Given the description of an element on the screen output the (x, y) to click on. 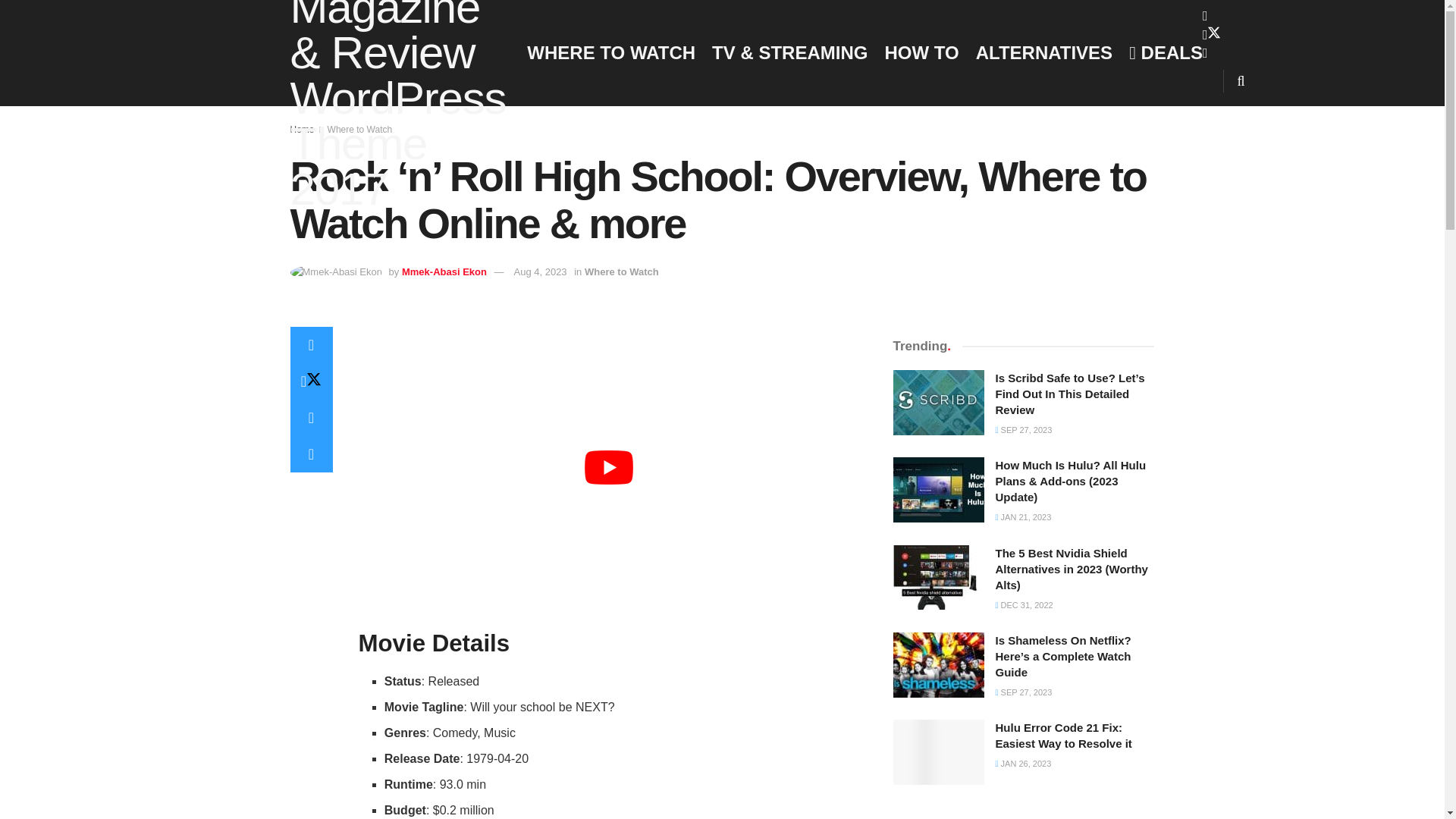
Home (301, 129)
ALTERNATIVES (1043, 52)
HOW TO (920, 52)
Where to Watch (360, 129)
WHERE TO WATCH (611, 52)
Mmek-Abasi Ekon (443, 271)
Aug 4, 2023 (539, 271)
Where to Watch (622, 271)
